Given the description of an element on the screen output the (x, y) to click on. 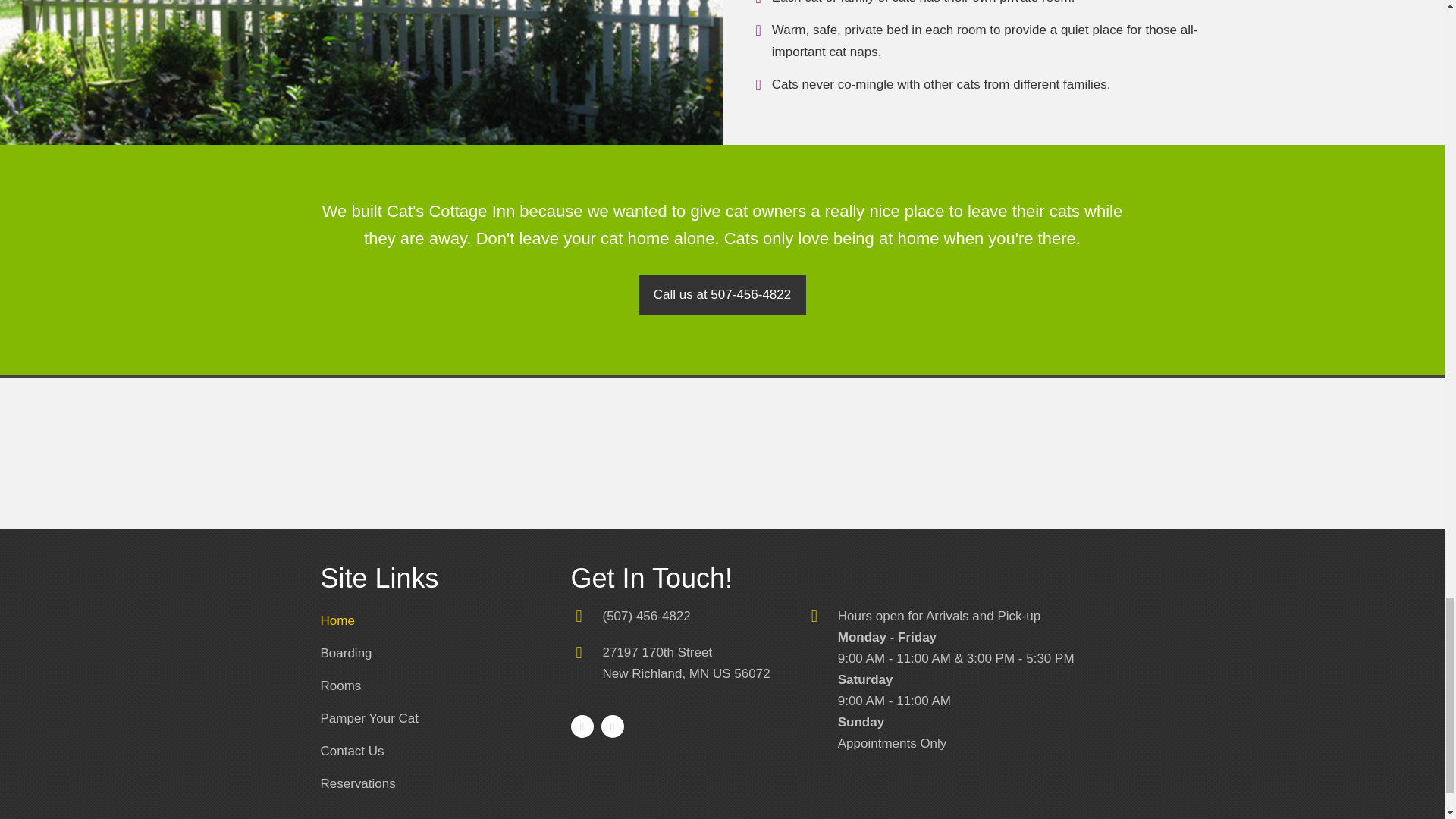
Reservations (357, 784)
Contact Us (352, 752)
Call us at 507-456-4822 (722, 294)
Pamper Your Cat (686, 662)
Boarding (368, 719)
Home (345, 654)
Rooms (336, 622)
